Given the description of an element on the screen output the (x, y) to click on. 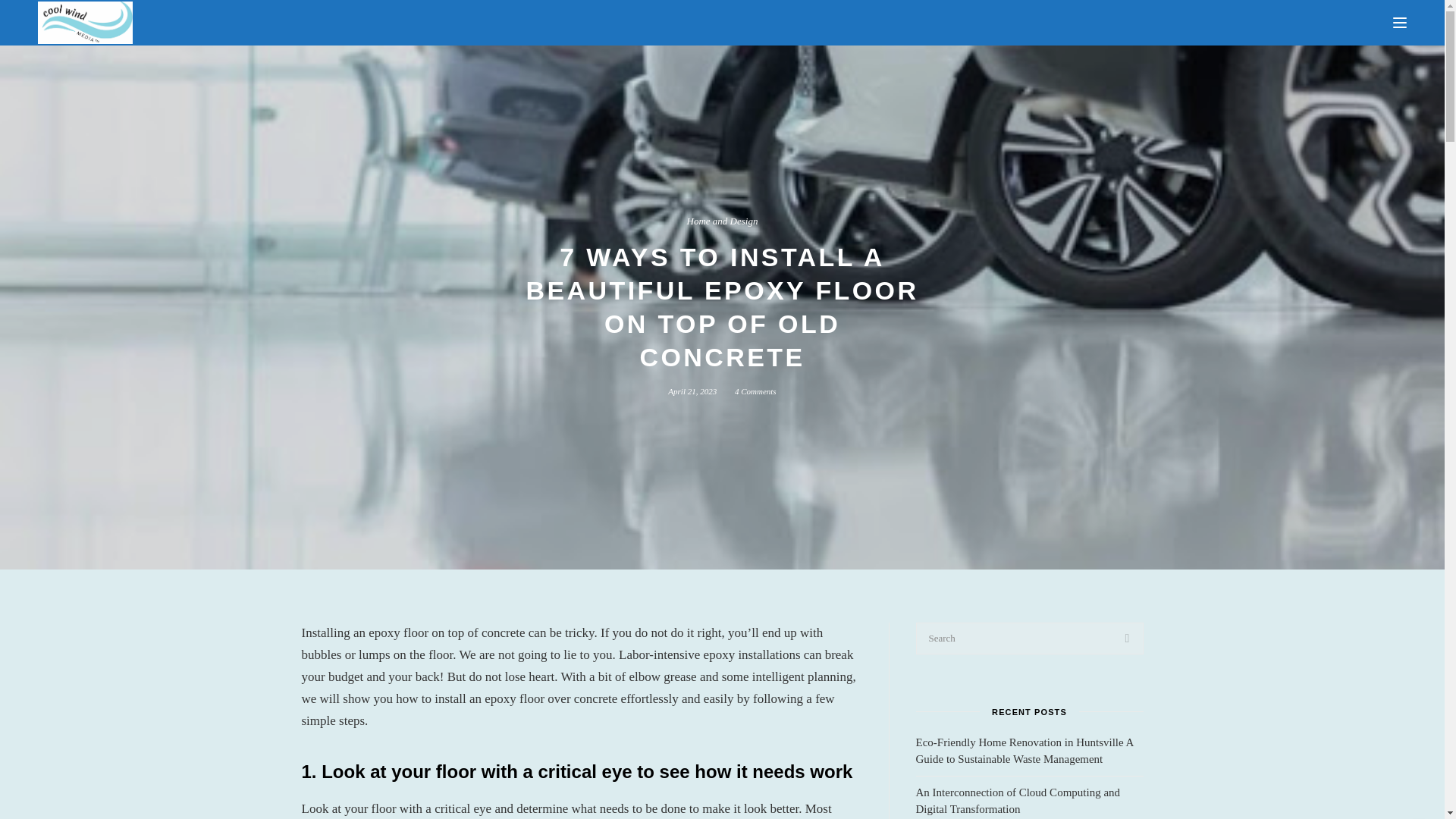
Home and Design (722, 221)
Toggle navigation (1399, 22)
4 Comments (755, 390)
